Given the description of an element on the screen output the (x, y) to click on. 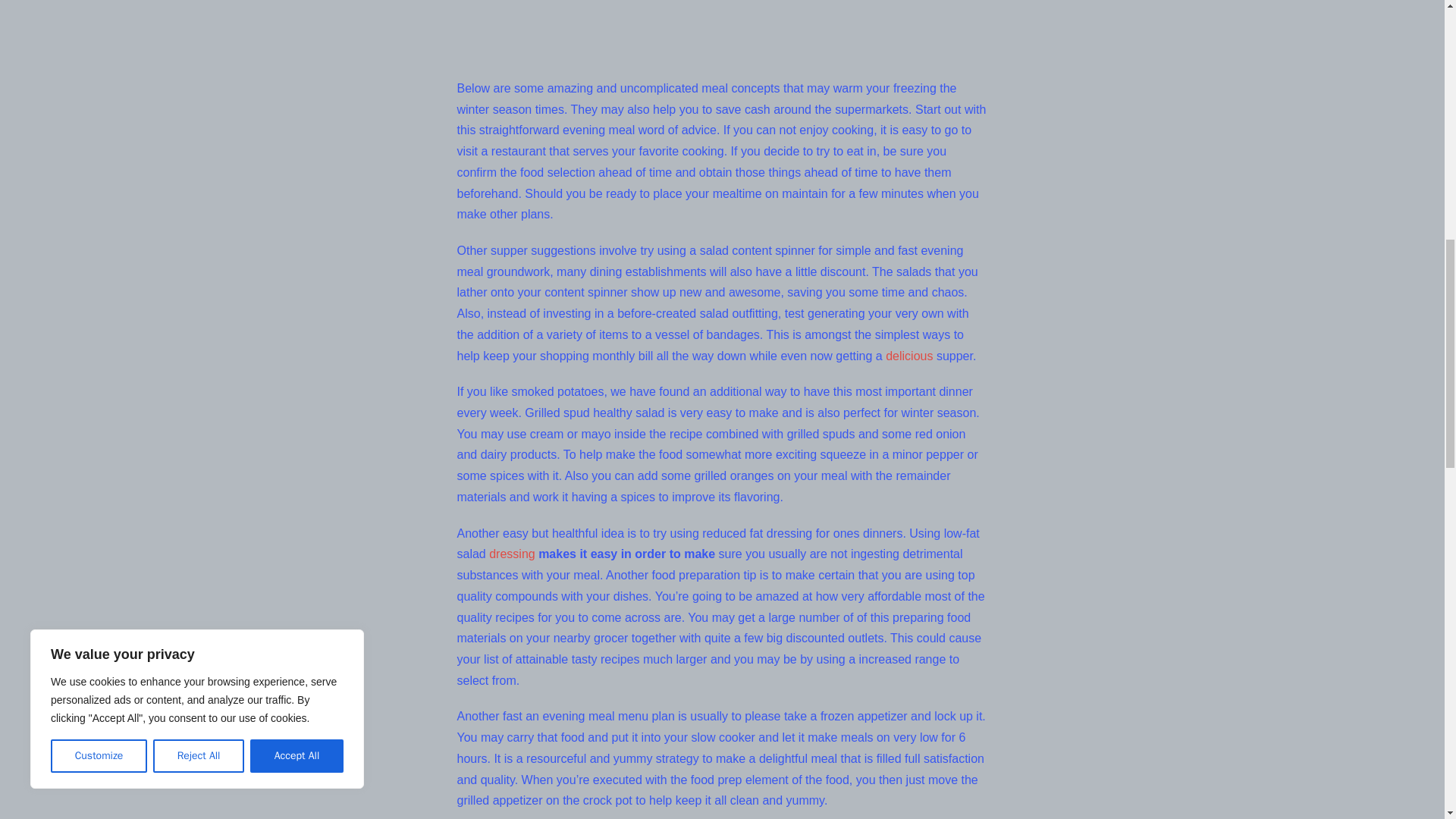
dressing (511, 553)
delicious (909, 355)
